Given the description of an element on the screen output the (x, y) to click on. 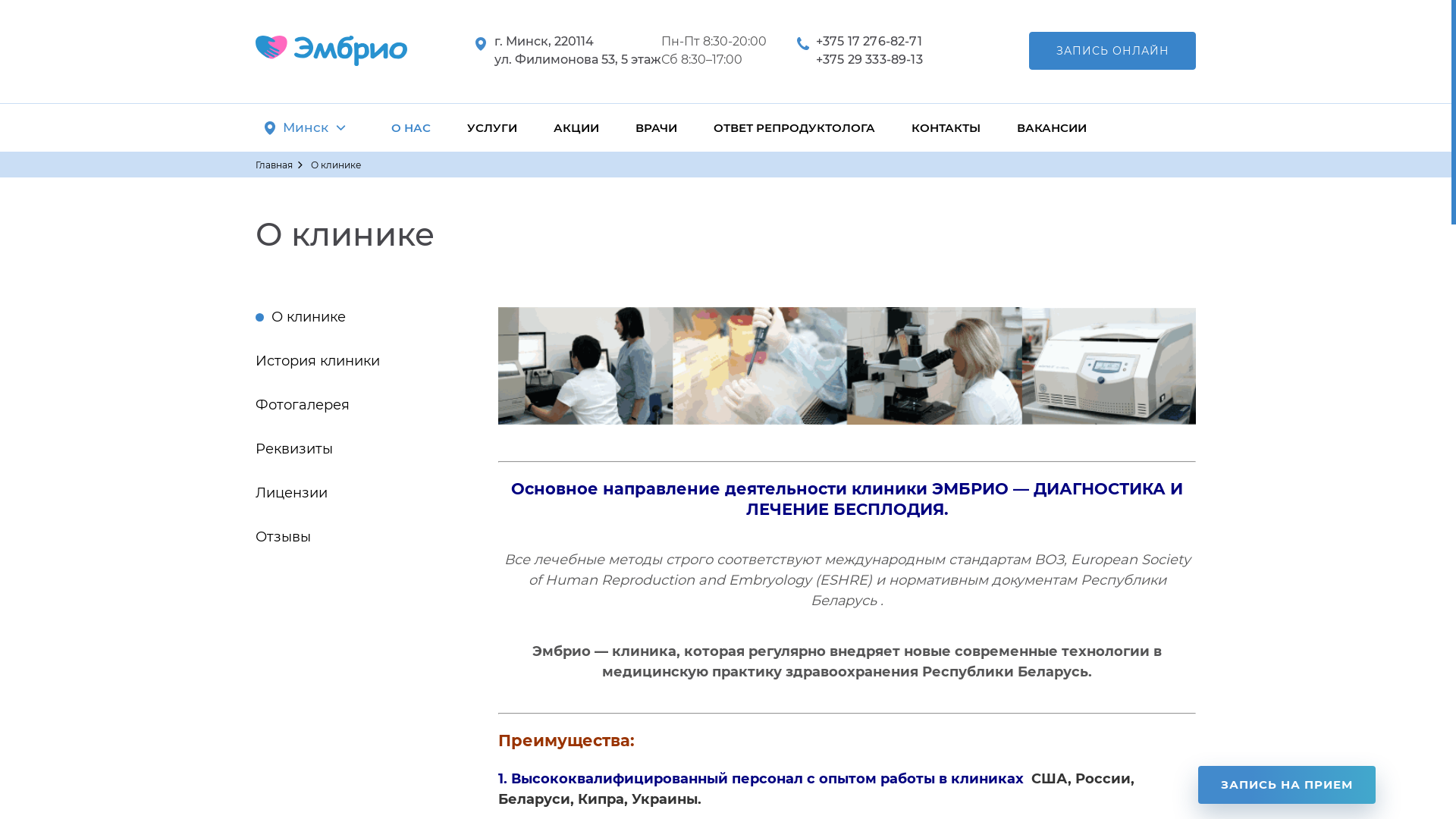
+375 29 333-89-13 Element type: text (868, 59)
+375 17 276-82-71 Element type: text (868, 41)
